Given the description of an element on the screen output the (x, y) to click on. 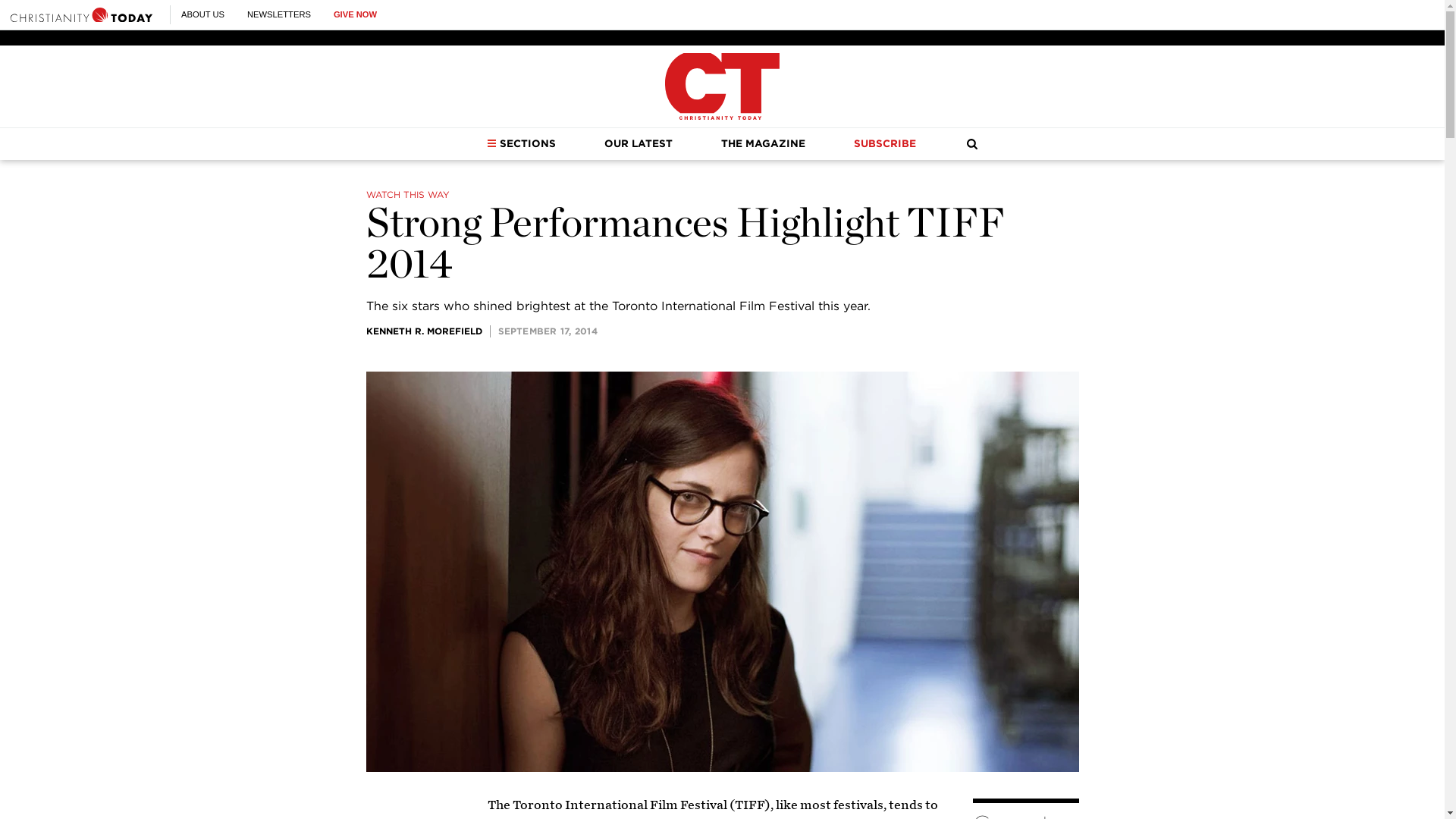
NEWSLETTERS (278, 14)
Sections Dropdown (491, 143)
SECTIONS (521, 143)
Christianity Today (81, 14)
GIVE NOW (355, 14)
Christianity Today (721, 86)
ABOUT US (202, 14)
